Given the description of an element on the screen output the (x, y) to click on. 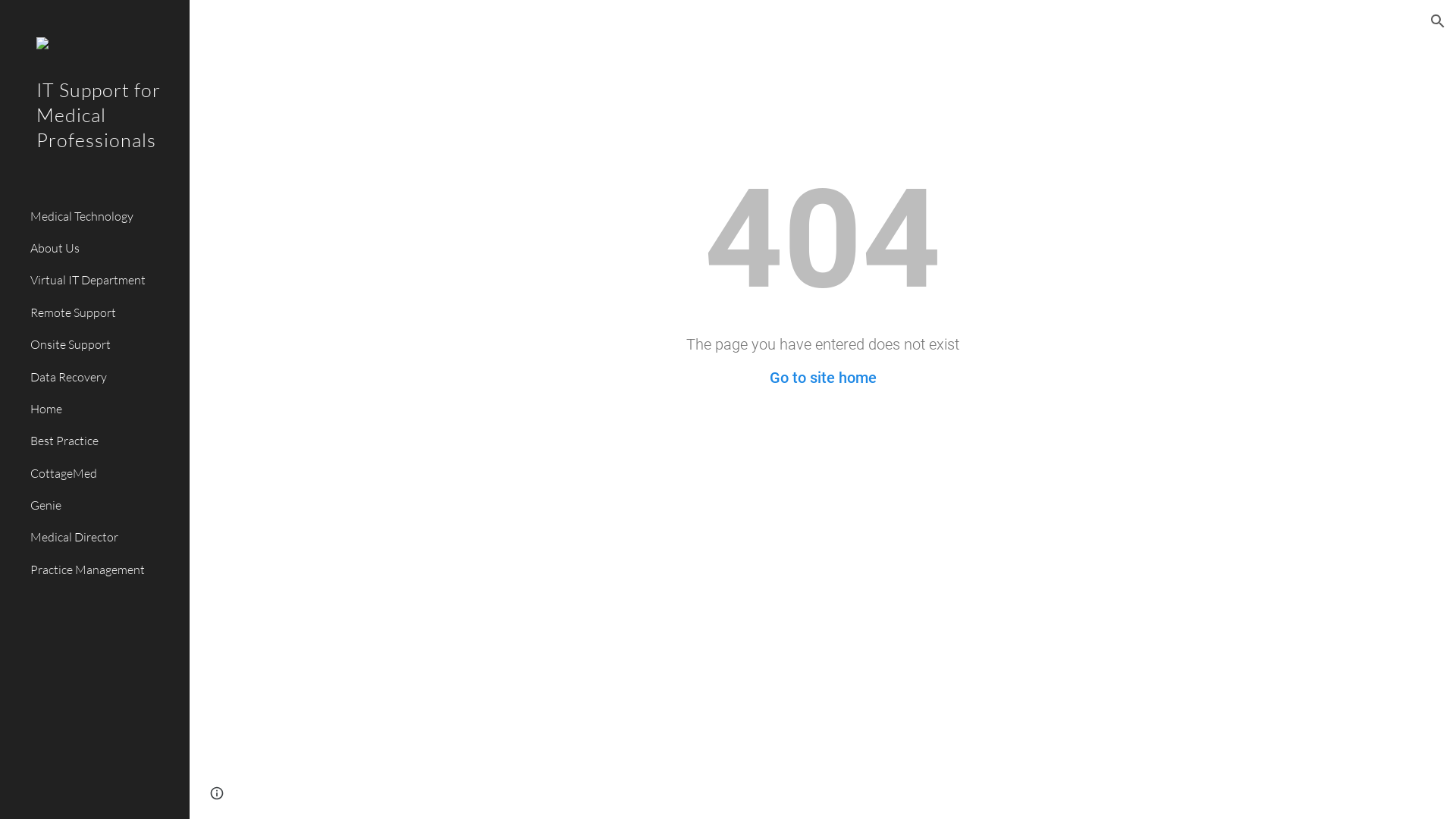
CottageMed Element type: text (103, 473)
Home Element type: text (103, 408)
About Us Element type: text (103, 248)
Medical Technology Element type: text (103, 216)
Genie Element type: text (103, 505)
Virtual IT Department Element type: text (103, 280)
Go to site home Element type: text (821, 377)
Onsite Support Element type: text (103, 344)
Data Recovery Element type: text (103, 376)
Remote Support Element type: text (103, 312)
Best Practice Element type: text (103, 441)
Practice Management Element type: text (103, 569)
IT Support for Medical Professionals Element type: text (94, 134)
Medical Director Element type: text (103, 537)
